Given the description of an element on the screen output the (x, y) to click on. 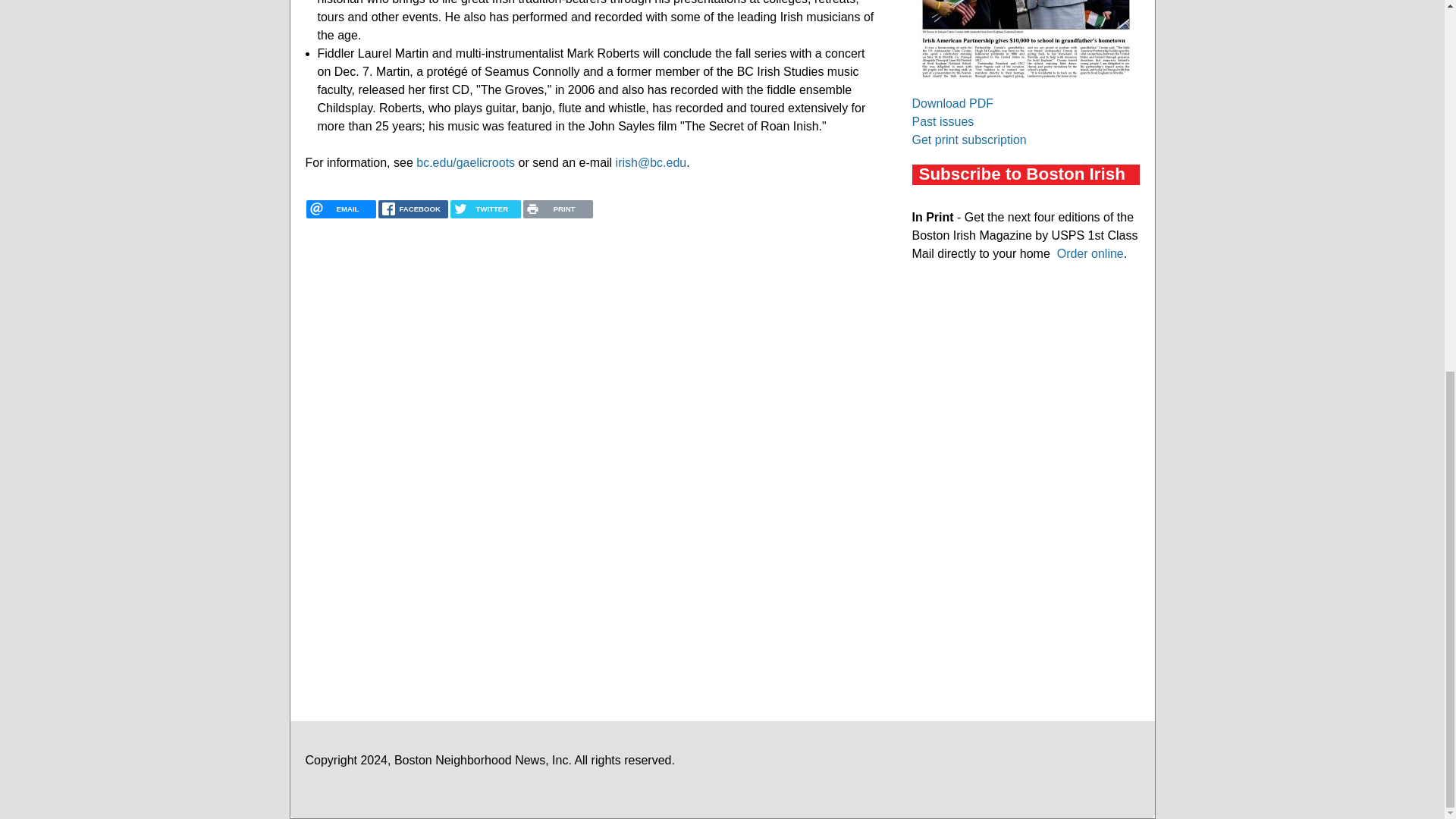
FACEBOOK (413, 208)
Order online (1090, 253)
EMAIL (340, 208)
Past issues (942, 121)
3rd party ad content (1024, 391)
Download PDF (951, 103)
Get print subscription (968, 139)
TWITTER (484, 208)
PRINT (557, 208)
3rd party ad content (1025, 596)
